Given the description of an element on the screen output the (x, y) to click on. 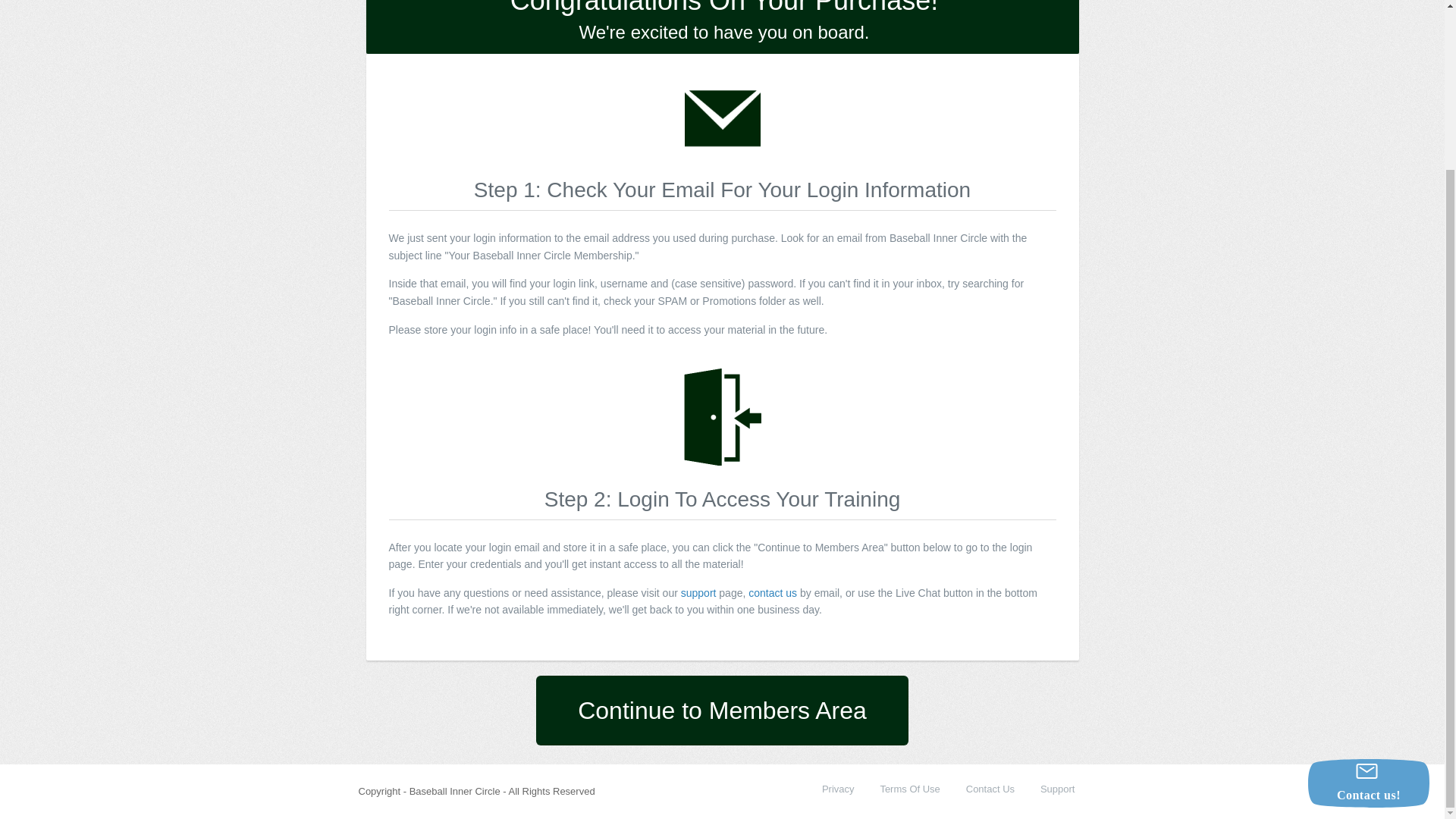
contact us (772, 592)
Continue to Members Area (721, 710)
Contact us! (1368, 580)
support (698, 592)
Privacy (838, 788)
Support (1058, 788)
Contact Us (990, 788)
Terms Of Use (909, 788)
